Given the description of an element on the screen output the (x, y) to click on. 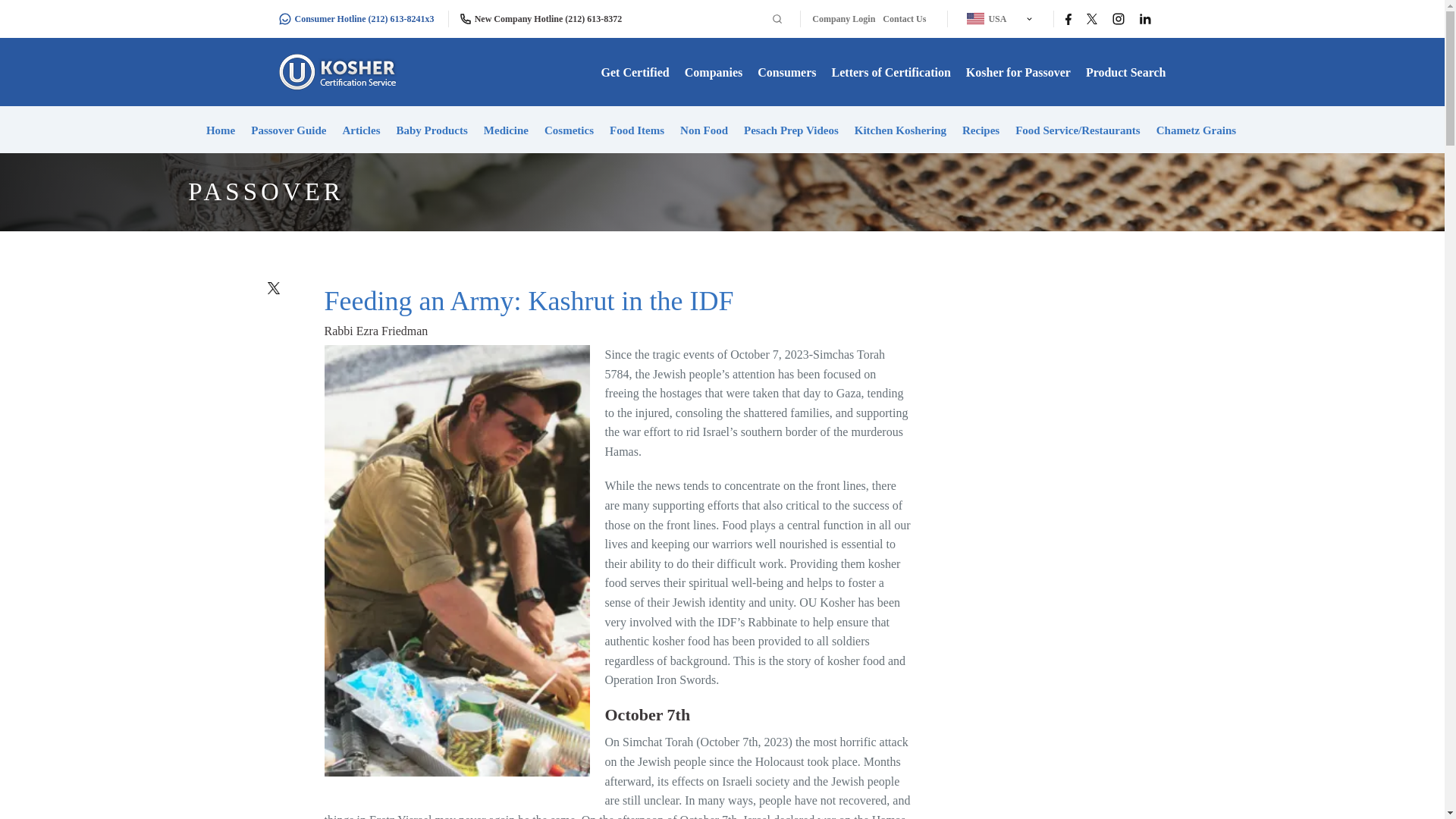
Company Login (843, 19)
USA (994, 18)
OU Kosher Certification (339, 71)
Get Certified (635, 72)
Contact Us (904, 19)
Companies (713, 72)
